Given the description of an element on the screen output the (x, y) to click on. 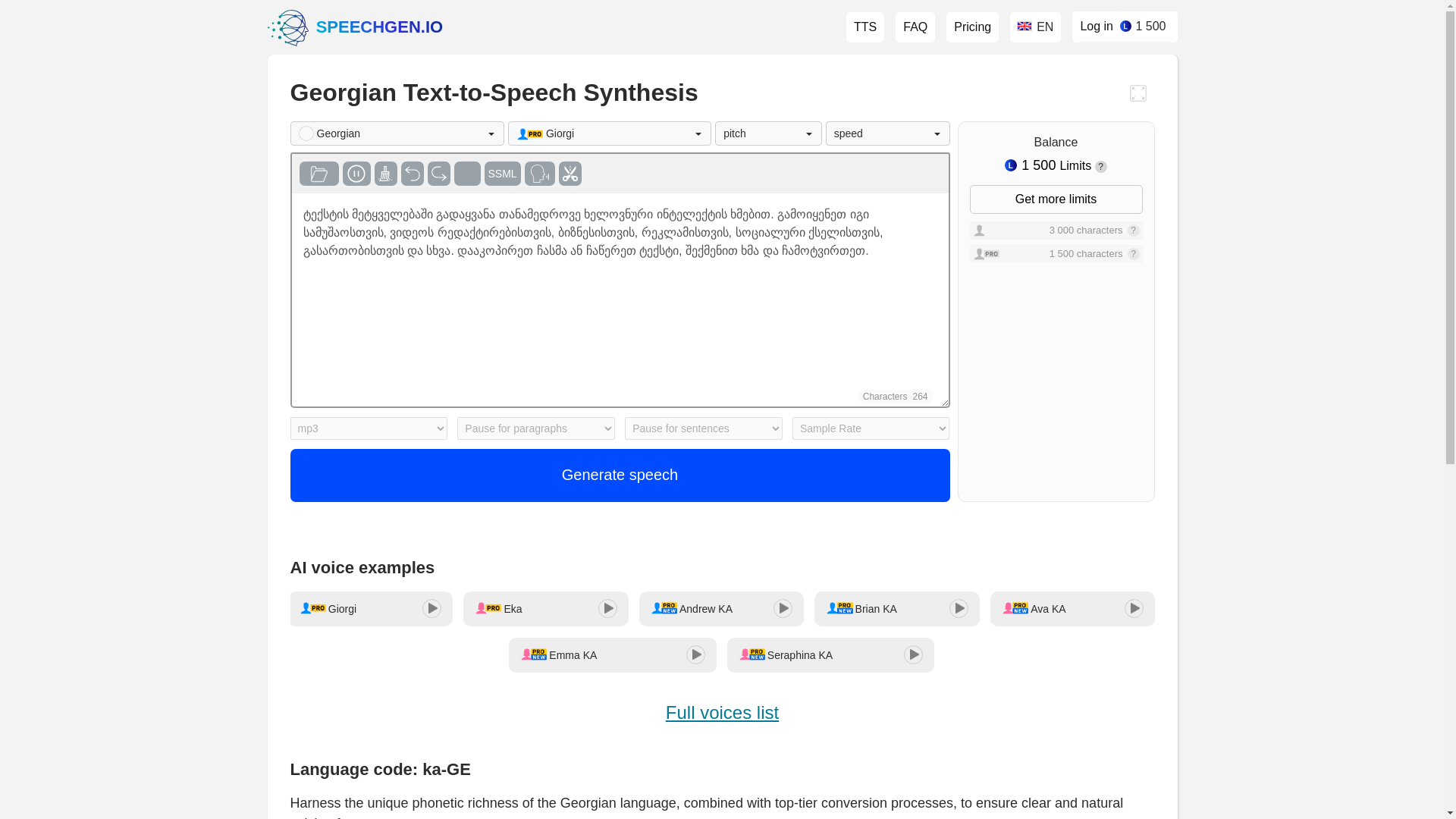
TTS (864, 25)
speed (887, 133)
Dialog (539, 173)
Pause (356, 173)
1 500 Limits (1047, 165)
SSML (501, 173)
Get more limits (1055, 199)
Clear (385, 173)
SPEECHGEN.IO (354, 27)
Pricing (972, 25)
